Given the description of an element on the screen output the (x, y) to click on. 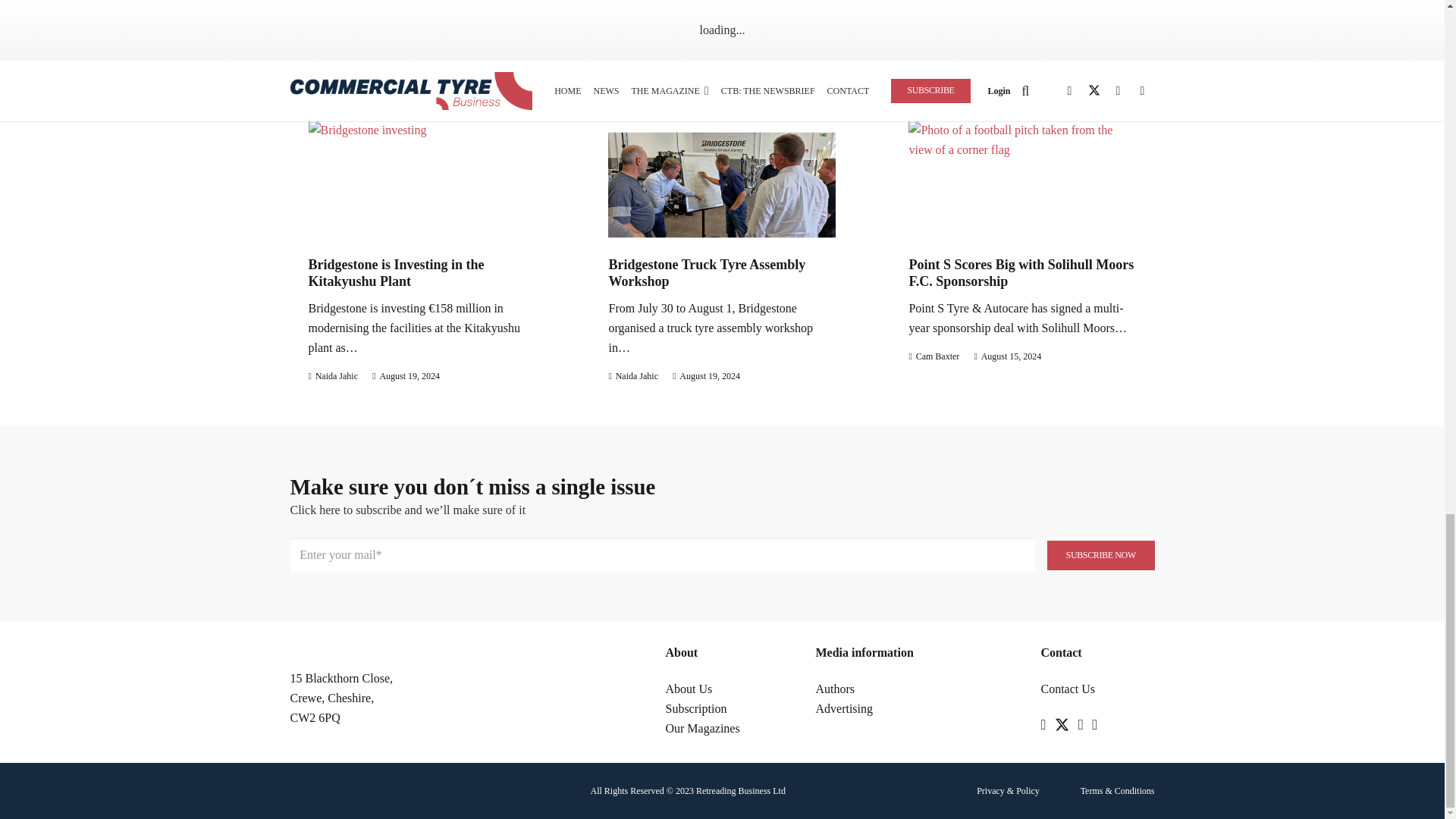
Subscribe Now (1100, 555)
Twitter (1061, 724)
Bridgestone is Investing in the Kitakyushu Plant (395, 273)
